Given the description of an element on the screen output the (x, y) to click on. 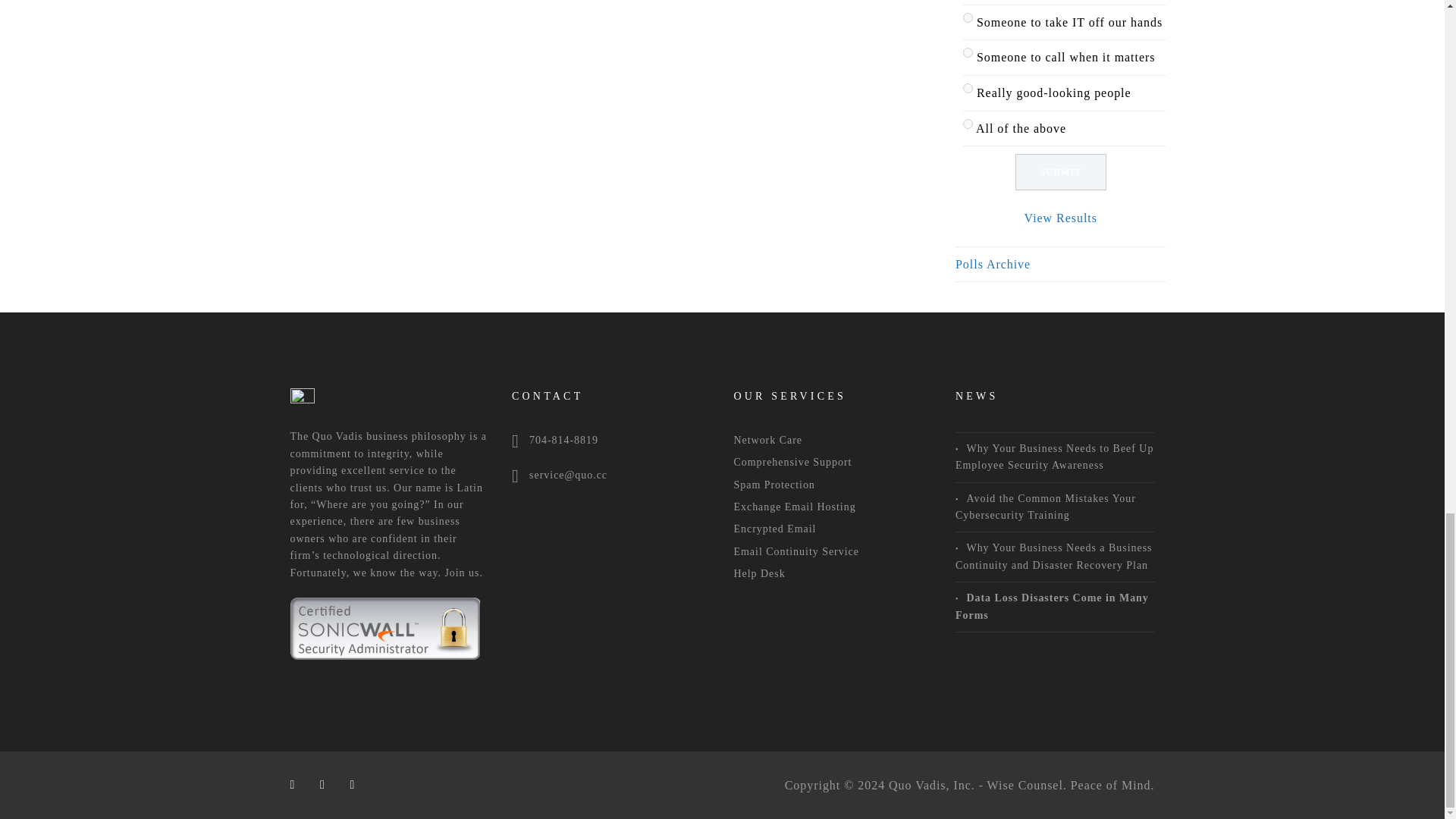
View Results Of This Poll (1061, 217)
15 (967, 52)
   Submit    (1060, 171)
17 (967, 123)
14 (967, 17)
16 (967, 88)
